Given the description of an element on the screen output the (x, y) to click on. 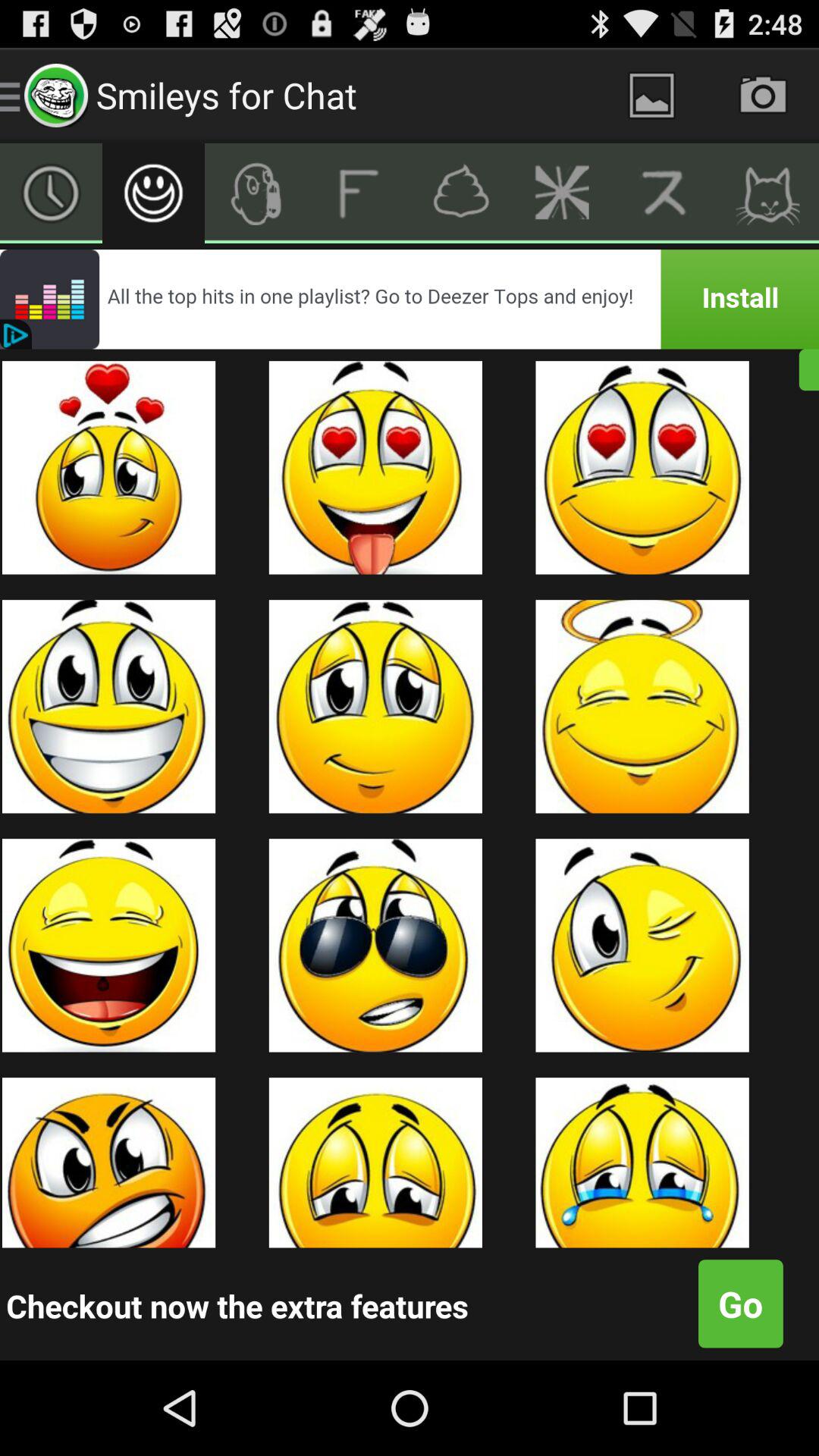
go to cat smileys (767, 193)
